Given the description of an element on the screen output the (x, y) to click on. 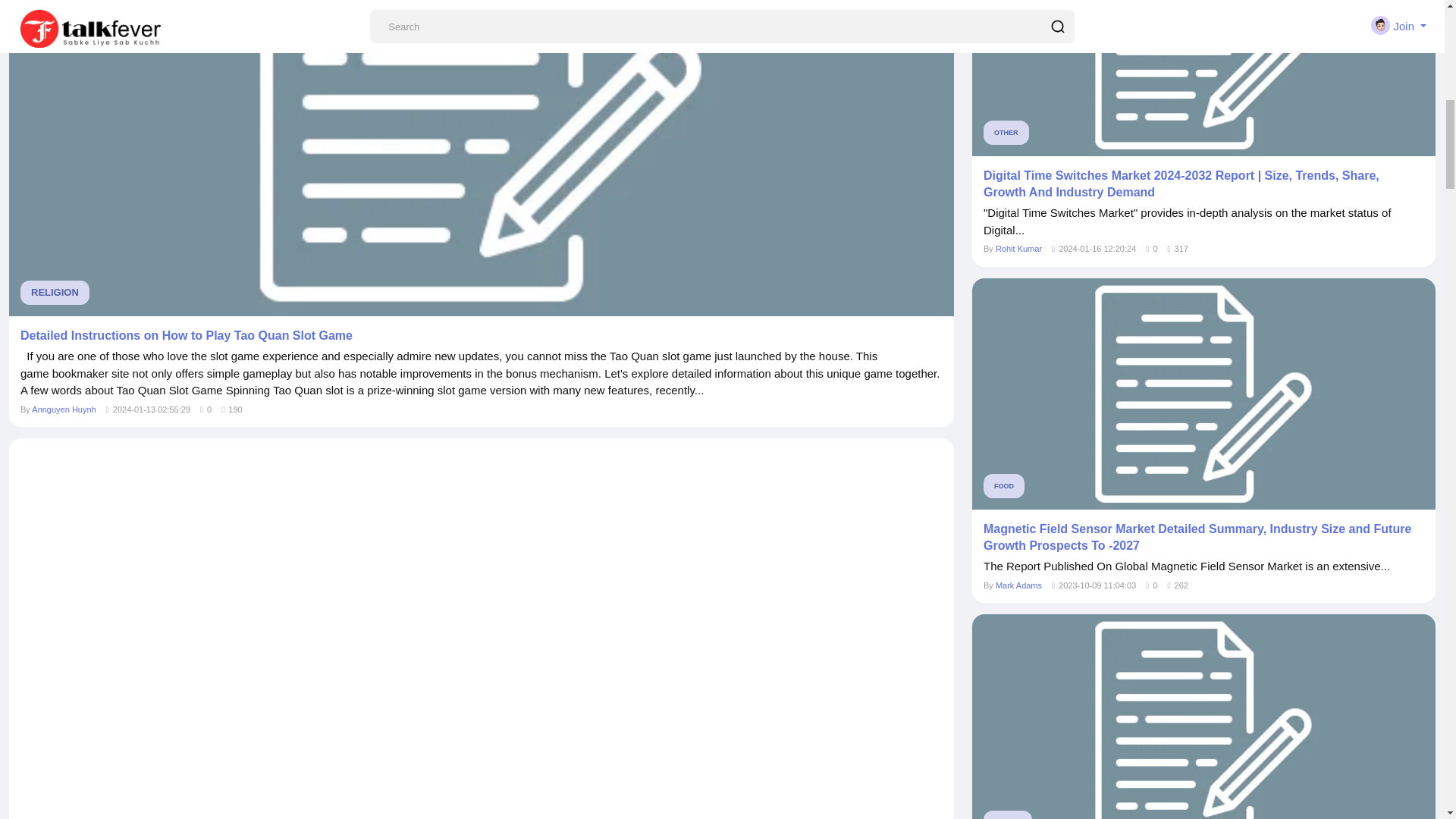
Detailed Instructions on How to Play Tao Quan Slot Game (481, 335)
Annguyen Huynh (64, 409)
RELIGION (54, 292)
